Given the description of an element on the screen output the (x, y) to click on. 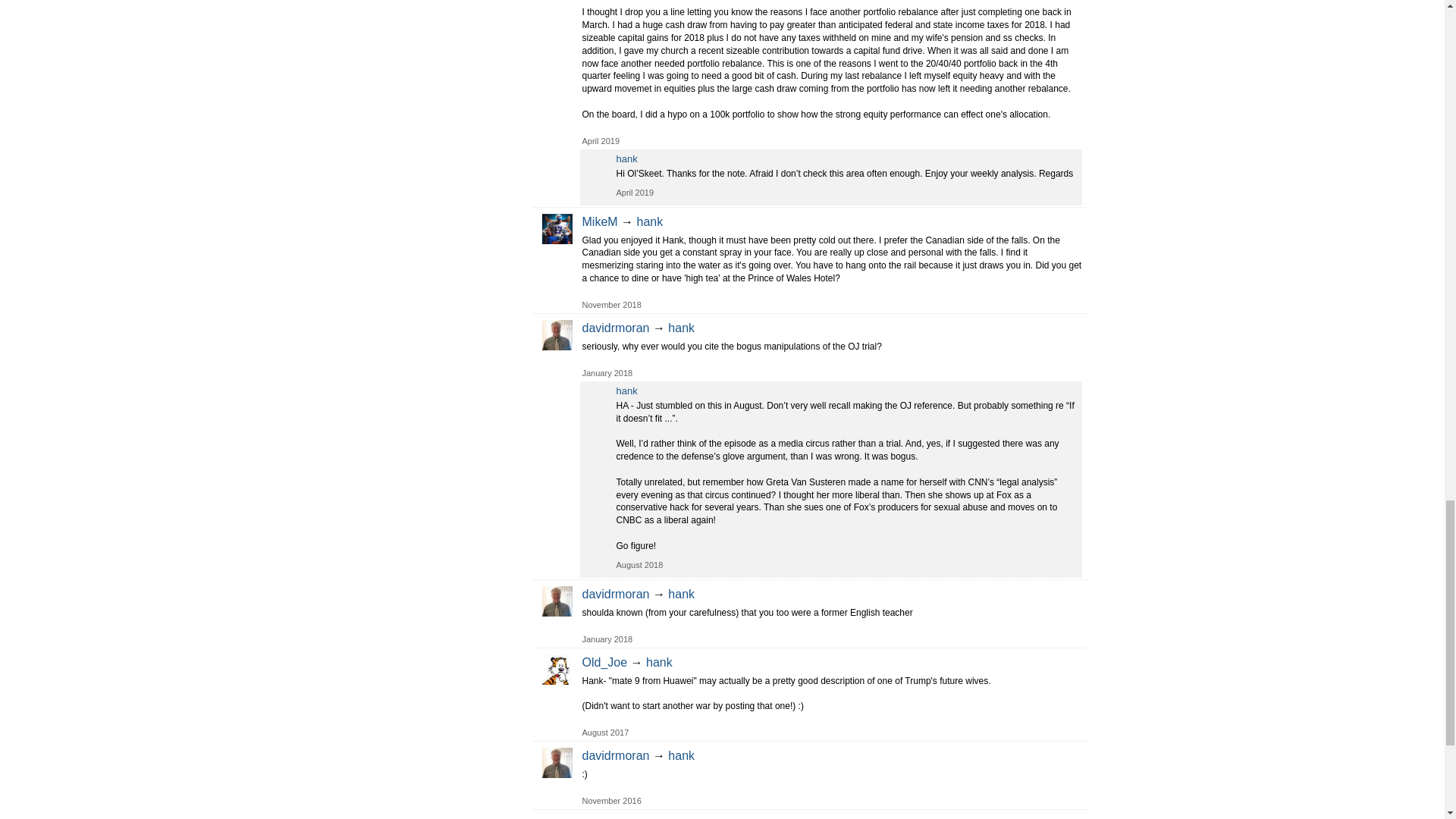
August 19, 2018 11:55PM (638, 564)
davidrmoran (556, 335)
MikeM (556, 228)
davidrmoran (556, 601)
April 29, 2019 11:55PM (634, 192)
davidrmoran (556, 762)
